Given the description of an element on the screen output the (x, y) to click on. 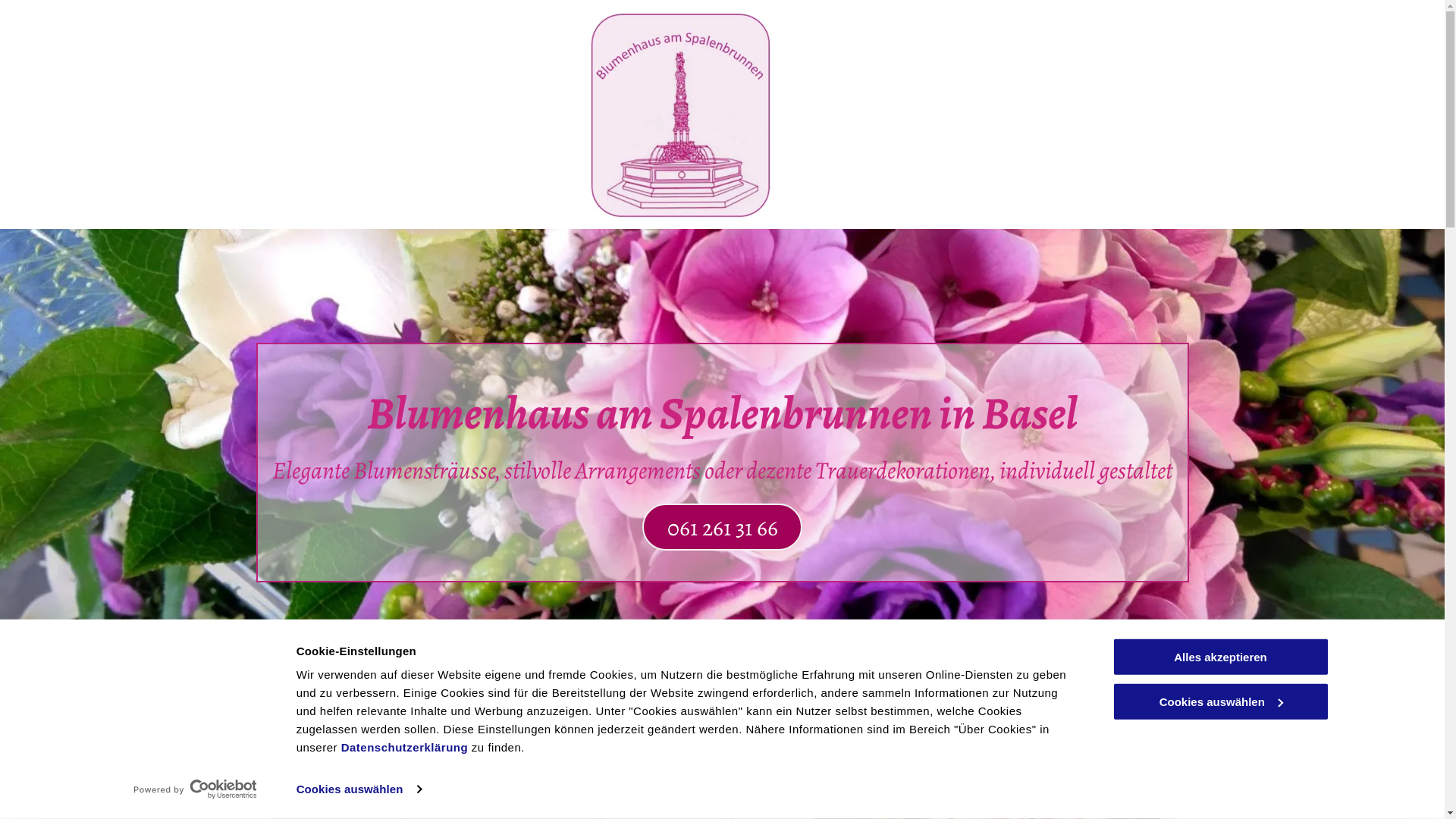
061 261 31 66 Element type: text (722, 526)
Alles akzeptieren Element type: text (1219, 656)
